Given the description of an element on the screen output the (x, y) to click on. 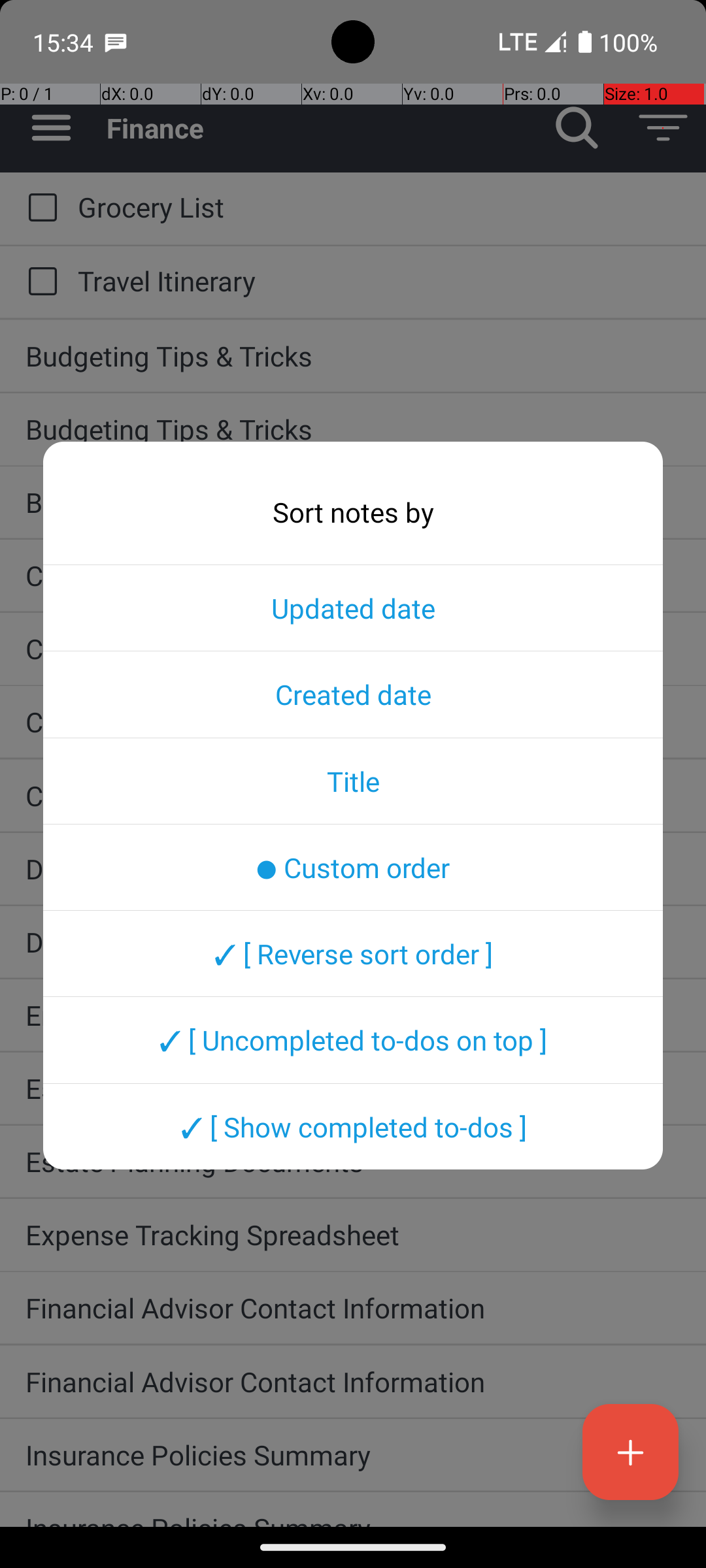
Updated date Element type: android.widget.TextView (352, 607)
Created date Element type: android.widget.TextView (352, 693)
⬤ Custom order Element type: android.widget.TextView (352, 866)
✓ [ Reverse sort order ] Element type: android.widget.TextView (352, 953)
✓ [ Uncompleted to-dos on top ] Element type: android.widget.TextView (352, 1039)
✓ [ Show completed to-dos ] Element type: android.widget.TextView (352, 1126)
to-do: Grocery List Element type: android.widget.CheckBox (38, 208)
Grocery List Element type: android.widget.TextView (378, 206)
to-do: Travel Itinerary Element type: android.widget.CheckBox (38, 282)
Travel Itinerary Element type: android.widget.TextView (378, 280)
Budgeting Tips & Tricks Element type: android.widget.TextView (352, 355)
Charitable Giving Log Element type: android.widget.TextView (352, 574)
Credit Card Statement - April 2024 Element type: android.widget.TextView (352, 721)
Debt Repayment Plan Element type: android.widget.TextView (352, 868)
Emergency Fund Progress Element type: android.widget.TextView (352, 1014)
Estate Planning Documents Element type: android.widget.TextView (352, 1087)
Expense Tracking Spreadsheet Element type: android.widget.TextView (352, 1234)
Insurance Policies Summary Element type: android.widget.TextView (352, 1454)
